Given the description of an element on the screen output the (x, y) to click on. 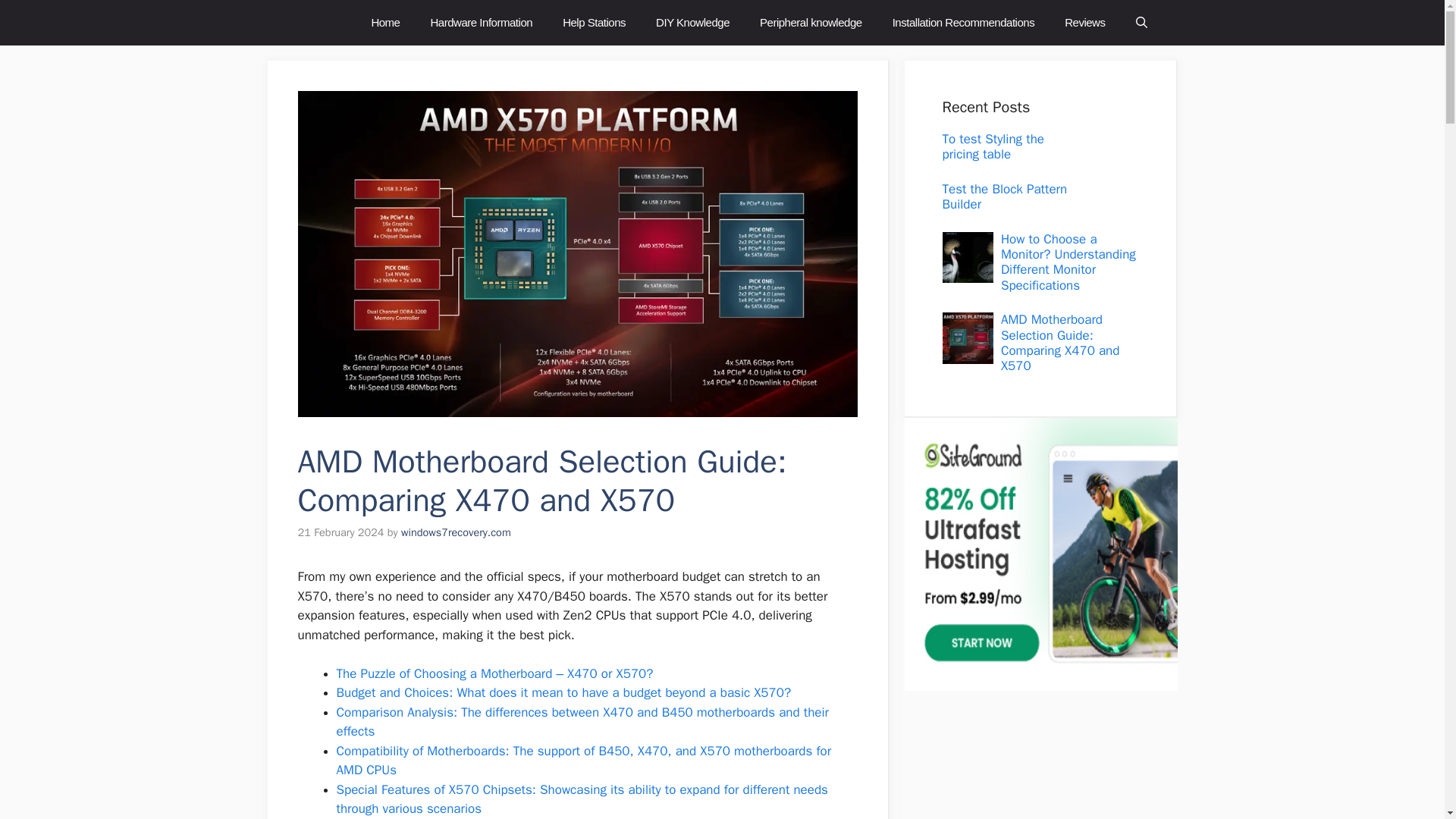
windows7recovery.com (456, 531)
DIY Knowledge (692, 22)
Reviews (1084, 22)
Home (384, 22)
AMD Motherboard Selection Guide: Comparing X470 and X570 (1060, 342)
View all posts by windows7recovery.com (456, 531)
Help Stations (593, 22)
